Given the description of an element on the screen output the (x, y) to click on. 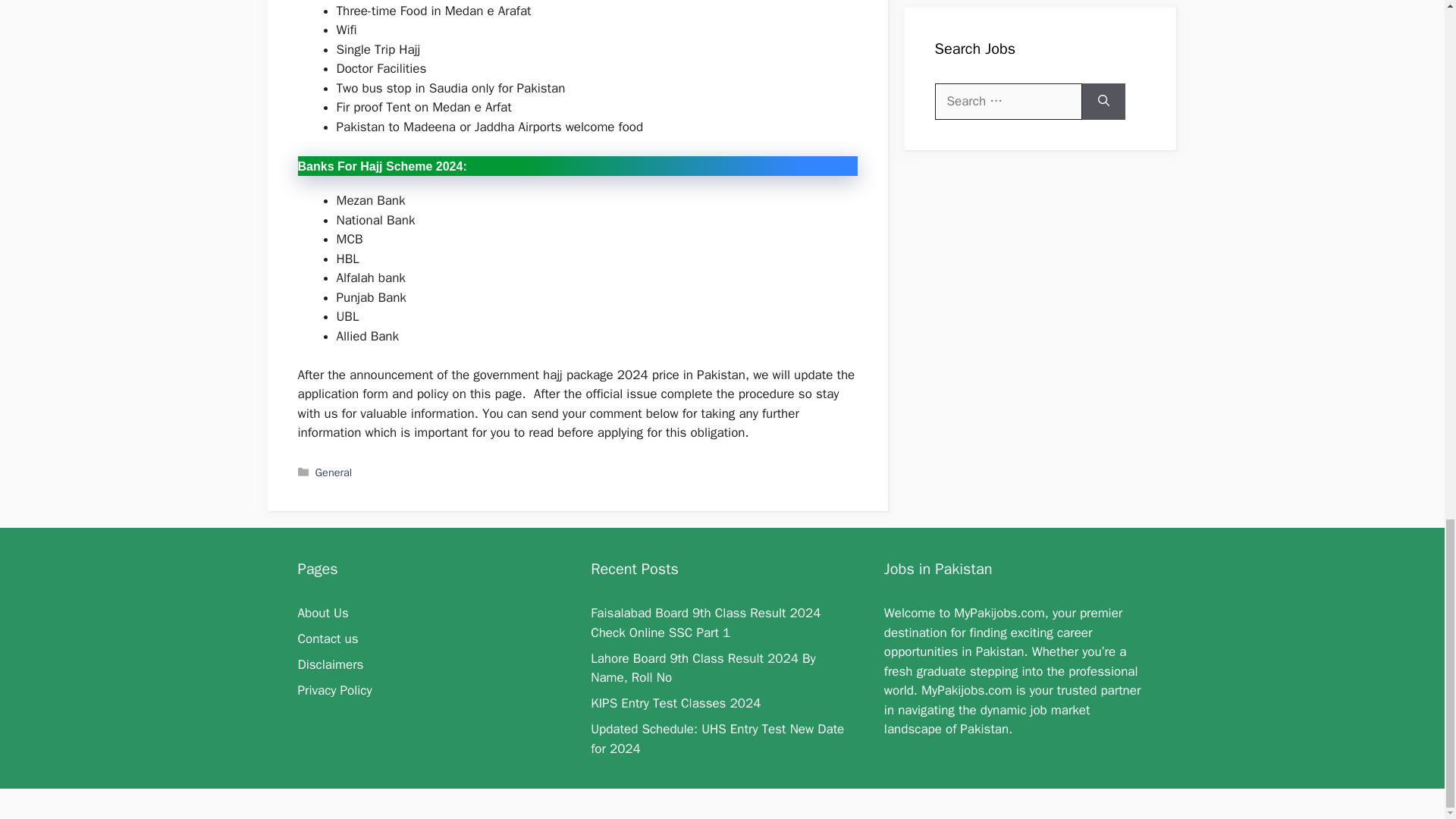
KIPS Entry Test Classes 2024 (675, 703)
Disclaimers (329, 664)
General (333, 472)
About Us (322, 612)
Lahore Board 9th Class Result 2024 By Name, Roll No (703, 668)
Privacy Policy (334, 690)
Contact us (327, 638)
Updated Schedule: UHS Entry Test New Date for 2024 (717, 738)
